Given the description of an element on the screen output the (x, y) to click on. 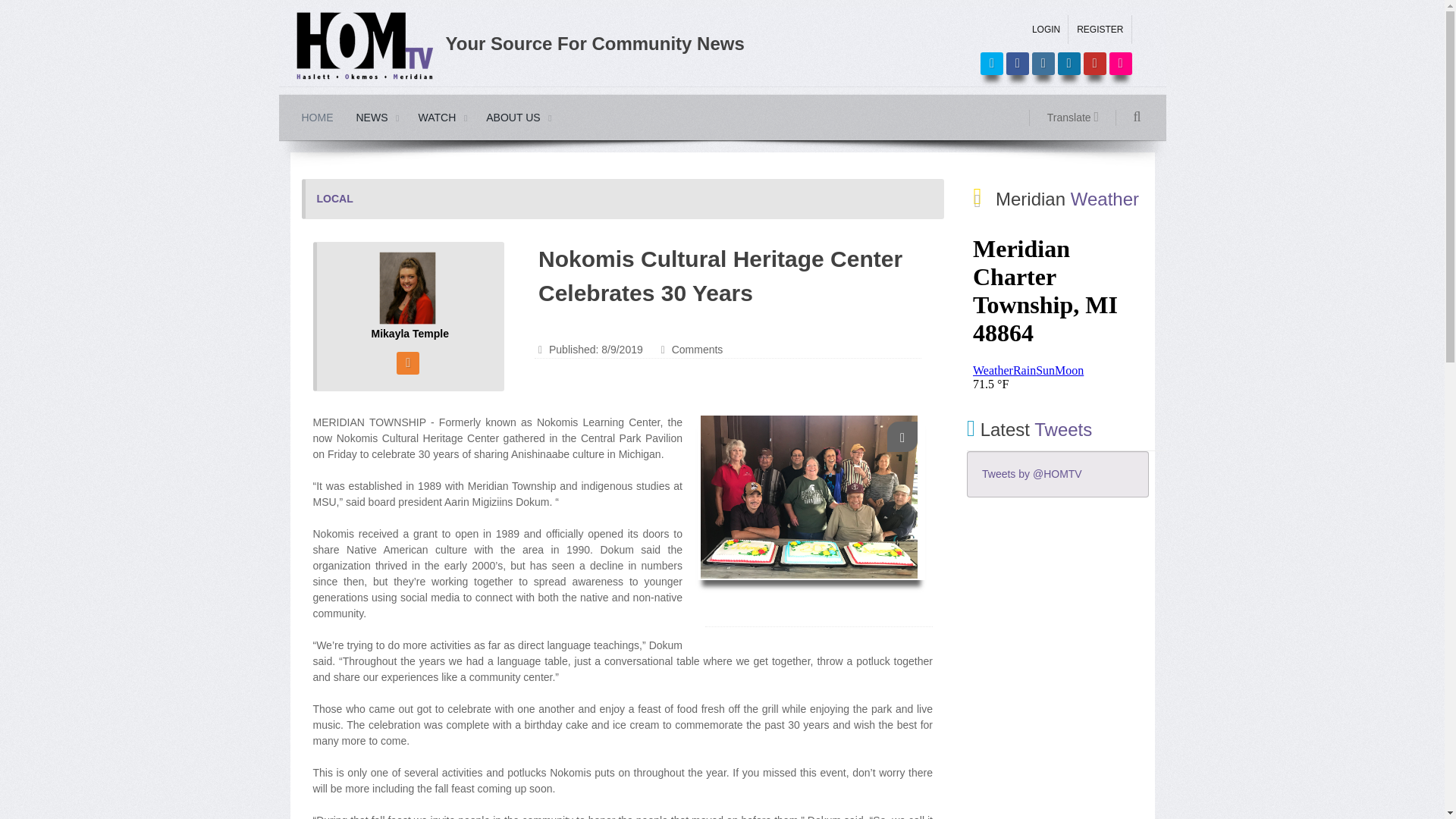
Translate (1078, 117)
Mikayla Temple (409, 287)
HOME (316, 117)
LOGIN (1046, 29)
REGISTER (1099, 29)
NEWS (374, 117)
